Given the description of an element on the screen output the (x, y) to click on. 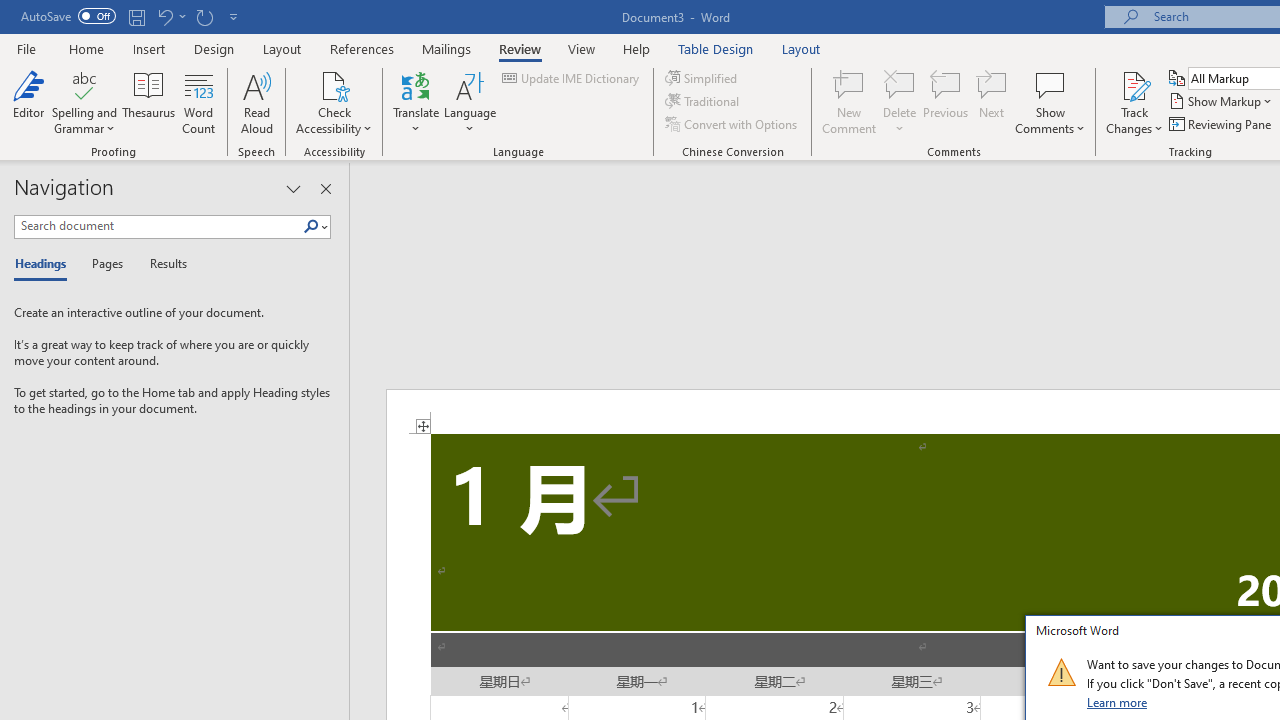
Track Changes (1134, 84)
Spelling and Grammar (84, 84)
Delete (900, 84)
Learn more (1118, 702)
Check Accessibility (334, 102)
Thesaurus... (148, 102)
Convert with Options... (732, 124)
